Given the description of an element on the screen output the (x, y) to click on. 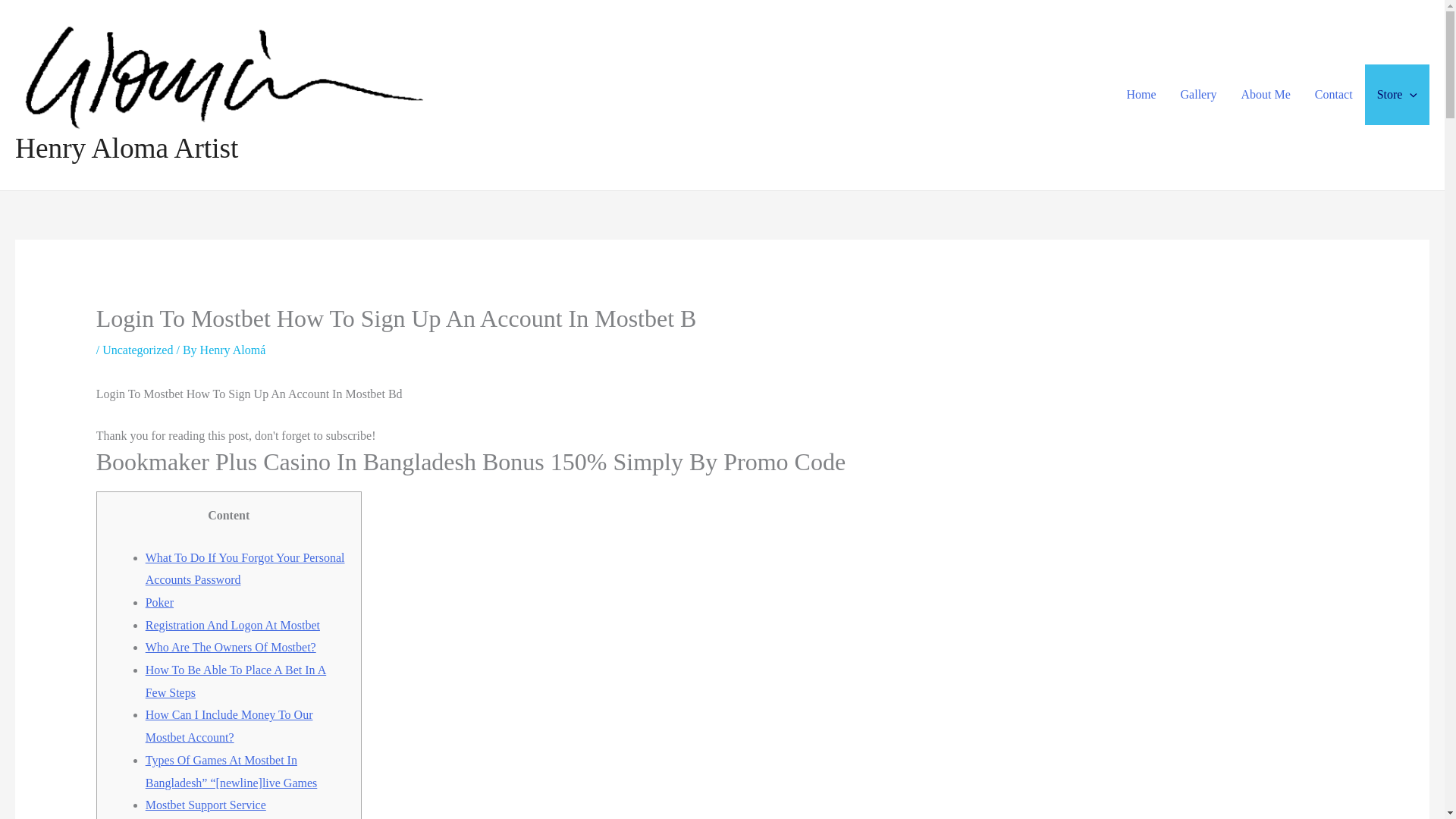
Henry Aloma Artist (126, 147)
What To Do If You Forgot Your Personal Accounts Password (245, 569)
How Can I Include Money To Our Mostbet Account? (229, 725)
Uncategorized (137, 349)
Store (1397, 94)
Contact (1334, 94)
Gallery (1198, 94)
Registration And Logon At Mostbet (232, 625)
Who Are The Owners Of Mostbet? (230, 646)
How To Be Able To Place A Bet In A Few Steps (235, 681)
About Me (1265, 94)
Poker (159, 602)
Mostbet Support Service (205, 804)
